Given the description of an element on the screen output the (x, y) to click on. 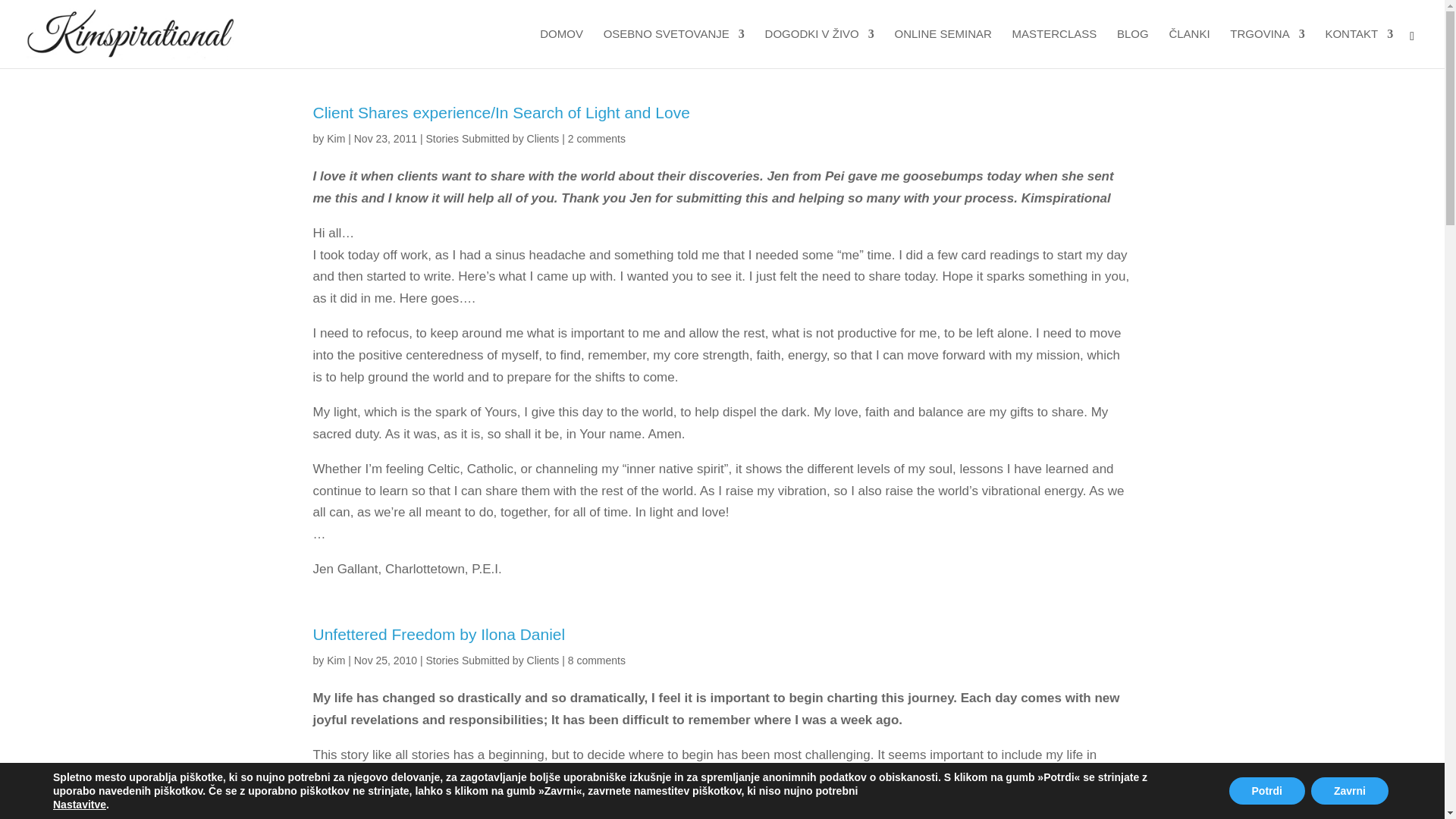
KONTAKT (1358, 47)
MASTERCLASS (1054, 47)
Posts by Kim (335, 660)
ONLINE SEMINAR (942, 47)
TRGOVINA (1267, 47)
OSEBNO SVETOVANJE (674, 47)
Posts by Kim (335, 138)
DOMOV (561, 47)
